Given the description of an element on the screen output the (x, y) to click on. 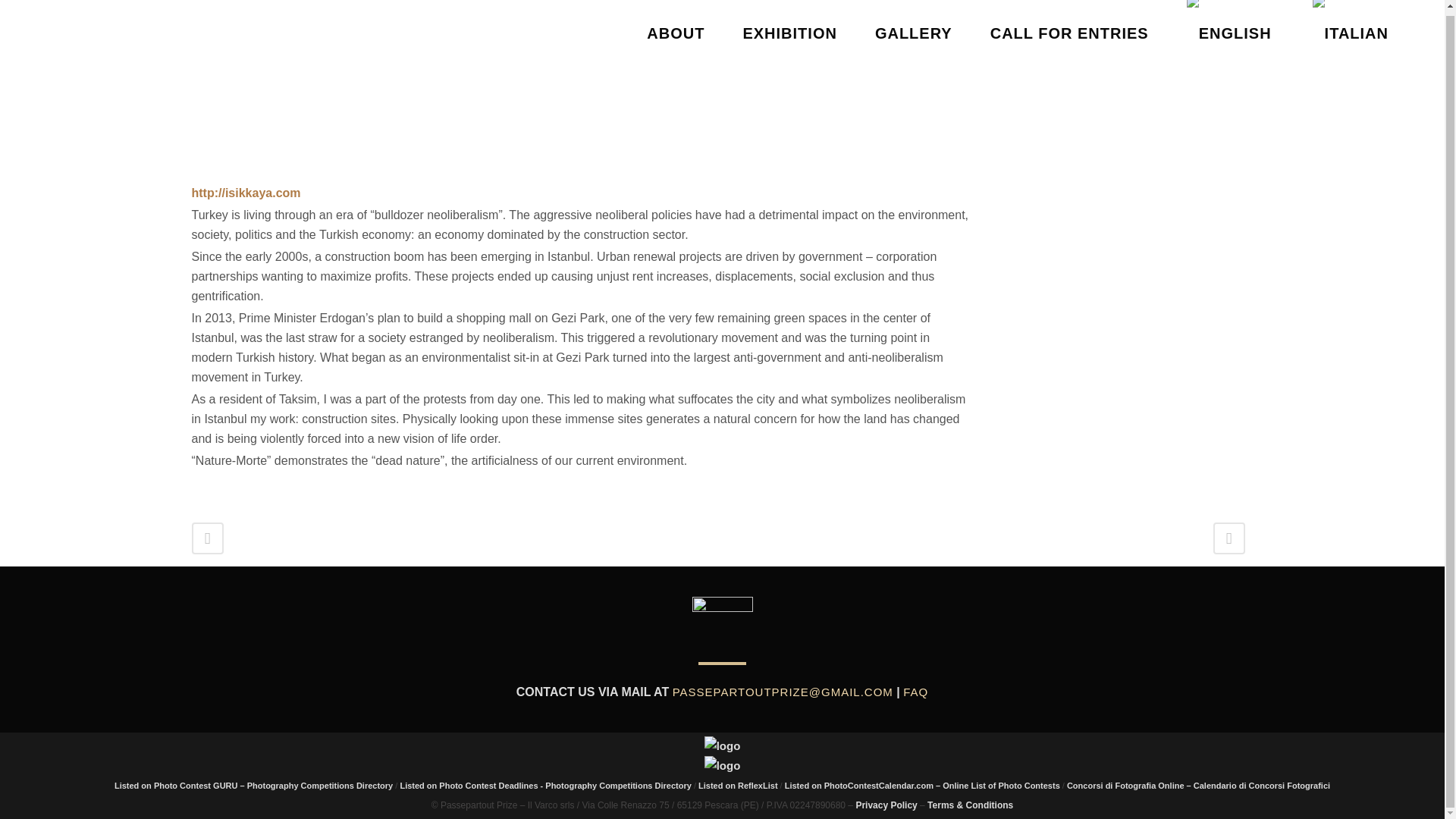
ABOUT (675, 35)
GALLERY (913, 35)
EXHIBITION (789, 35)
CALL FOR ENTRIES (1069, 35)
